Given the description of an element on the screen output the (x, y) to click on. 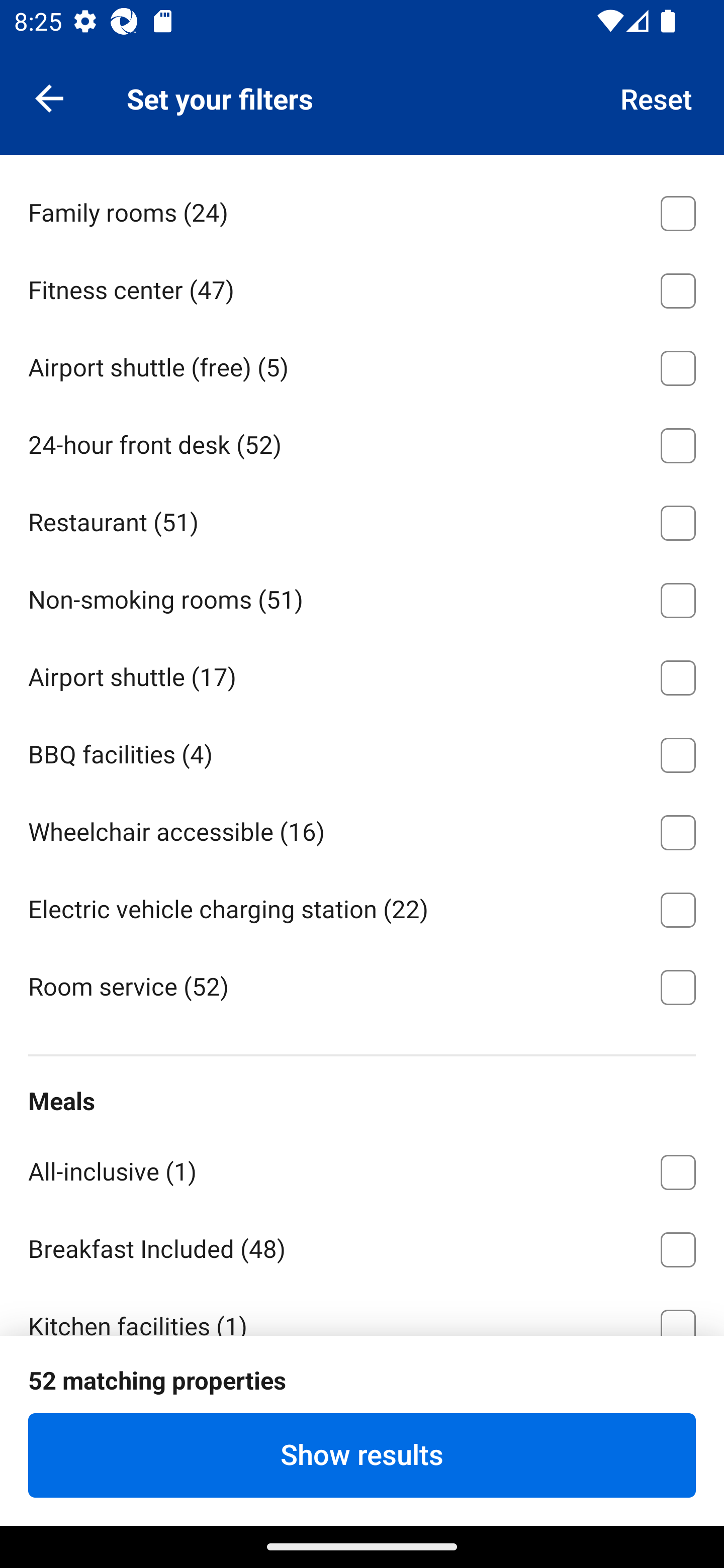
Navigate up (49, 97)
Reset (656, 97)
Family rooms ⁦(24) (361, 209)
Fitness center ⁦(47) (361, 287)
Airport shuttle (free) ⁦(5) (361, 364)
24-hour front desk ⁦(52) (361, 441)
Restaurant ⁦(51) (361, 519)
Non-smoking rooms ⁦(51) (361, 596)
Airport shuttle ⁦(17) (361, 674)
BBQ facilities ⁦(4) (361, 751)
Wheelchair accessible ⁦(16) (361, 829)
Electric vehicle charging station ⁦(22) (361, 906)
Room service ⁦(52) (361, 985)
All-inclusive ⁦(1) (361, 1168)
Breakfast Included ⁦(48) (361, 1246)
Kitchen facilities ⁦(1) (361, 1310)
Show results (361, 1454)
